Given the description of an element on the screen output the (x, y) to click on. 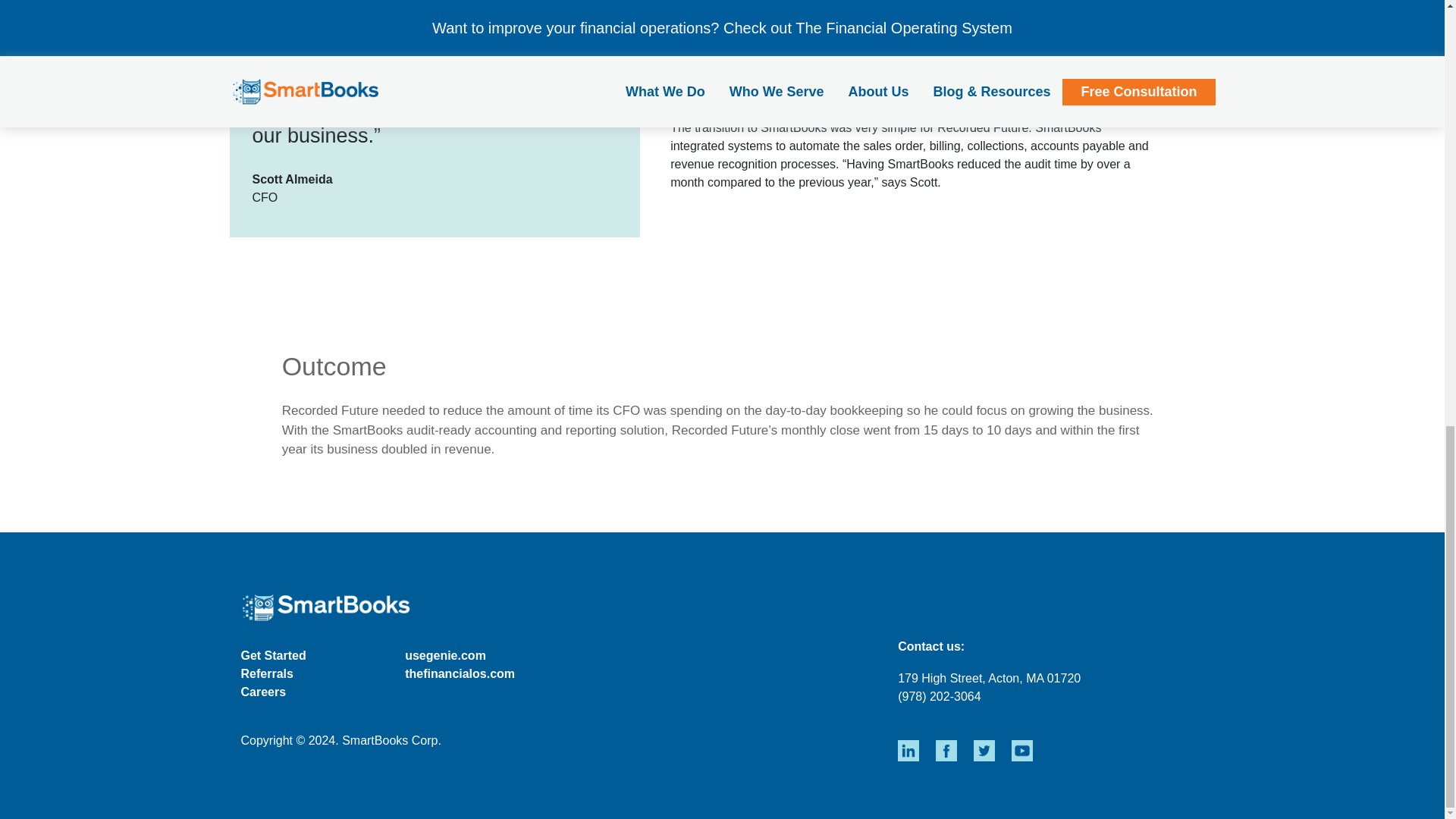
Referrals (267, 673)
thefinancialos.com (459, 673)
Get Started (273, 655)
Careers (263, 691)
usegenie.com (445, 655)
